Given the description of an element on the screen output the (x, y) to click on. 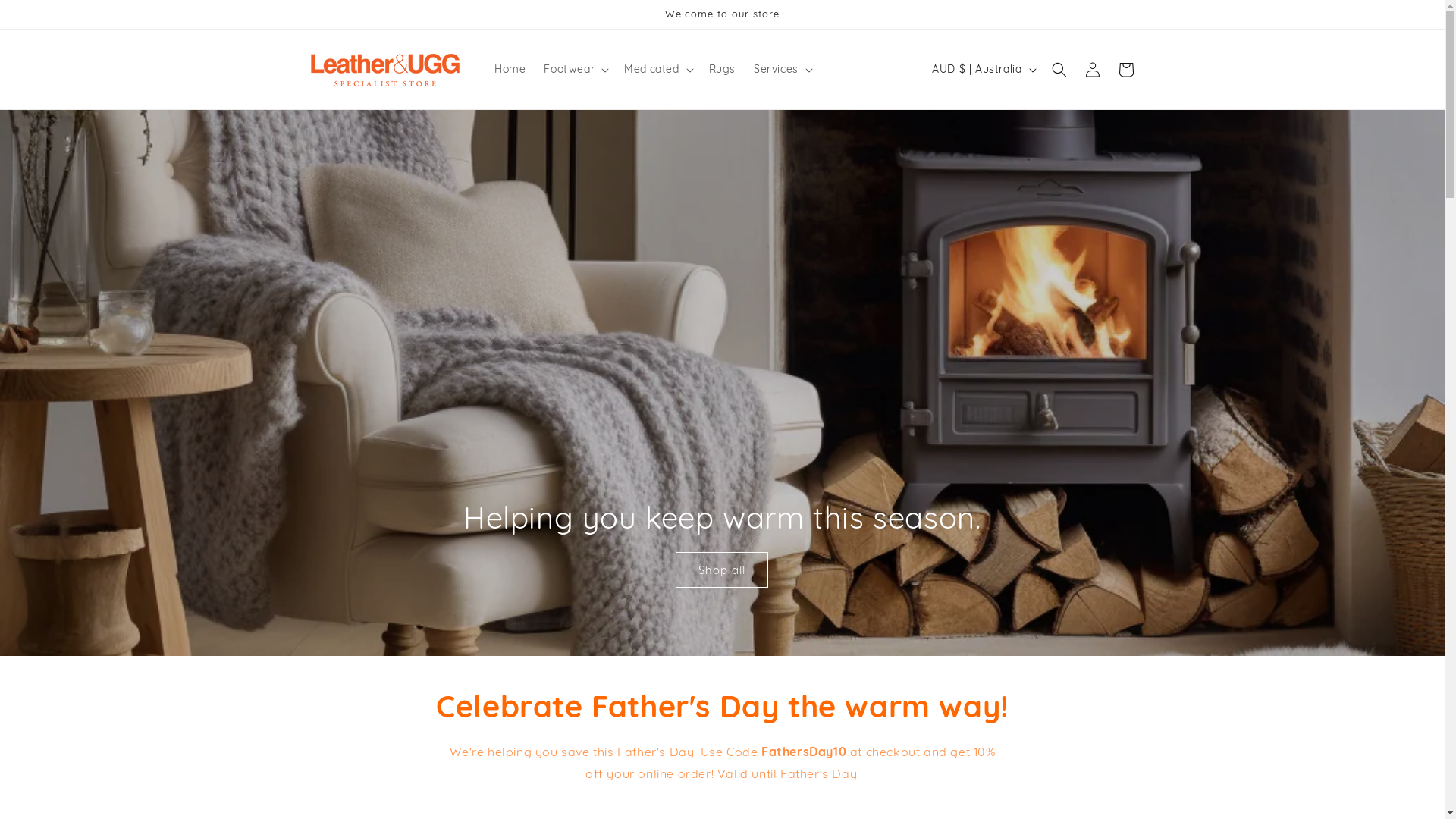
Rugs Element type: text (721, 68)
Shop all Element type: text (722, 569)
AUD $ | Australia Element type: text (981, 68)
Home Element type: text (509, 68)
Cart Element type: text (1125, 69)
Log in Element type: text (1091, 69)
